Given the description of an element on the screen output the (x, y) to click on. 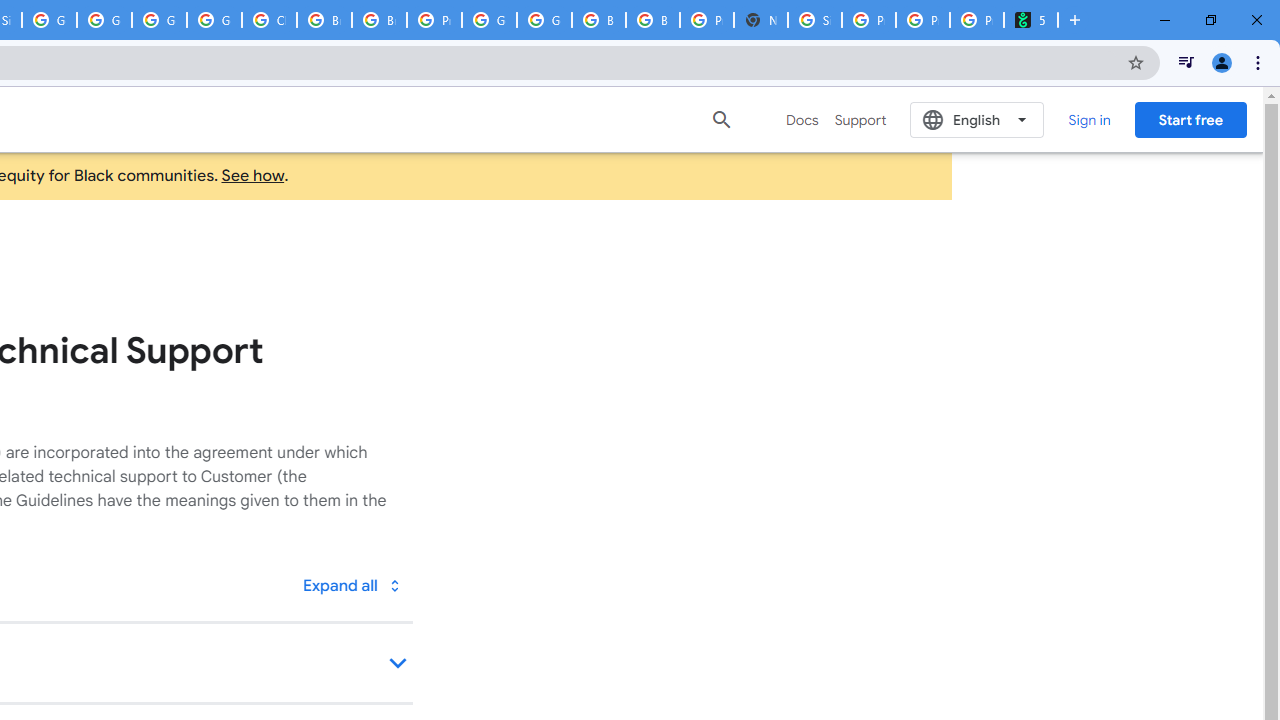
Google Cloud Platform (544, 20)
Sign in - Google Accounts (815, 20)
Browse Chrome as a guest - Computer - Google Chrome Help (598, 20)
Google Cloud Platform (158, 20)
Control your music, videos, and more (1185, 62)
Google Cloud Platform (489, 20)
